Given the description of an element on the screen output the (x, y) to click on. 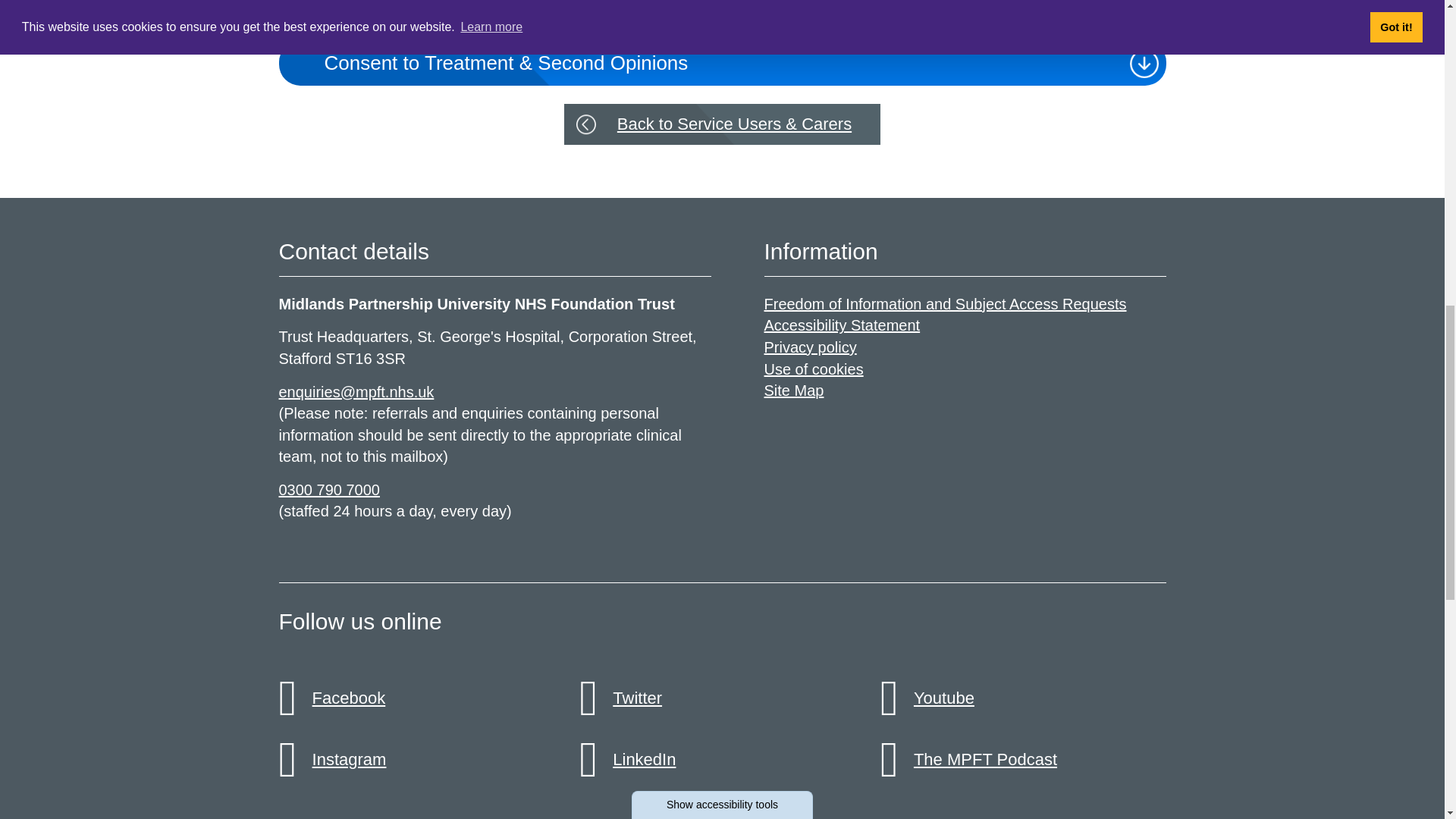
Phone 0300 790 7000 (329, 489)
